Given the description of an element on the screen output the (x, y) to click on. 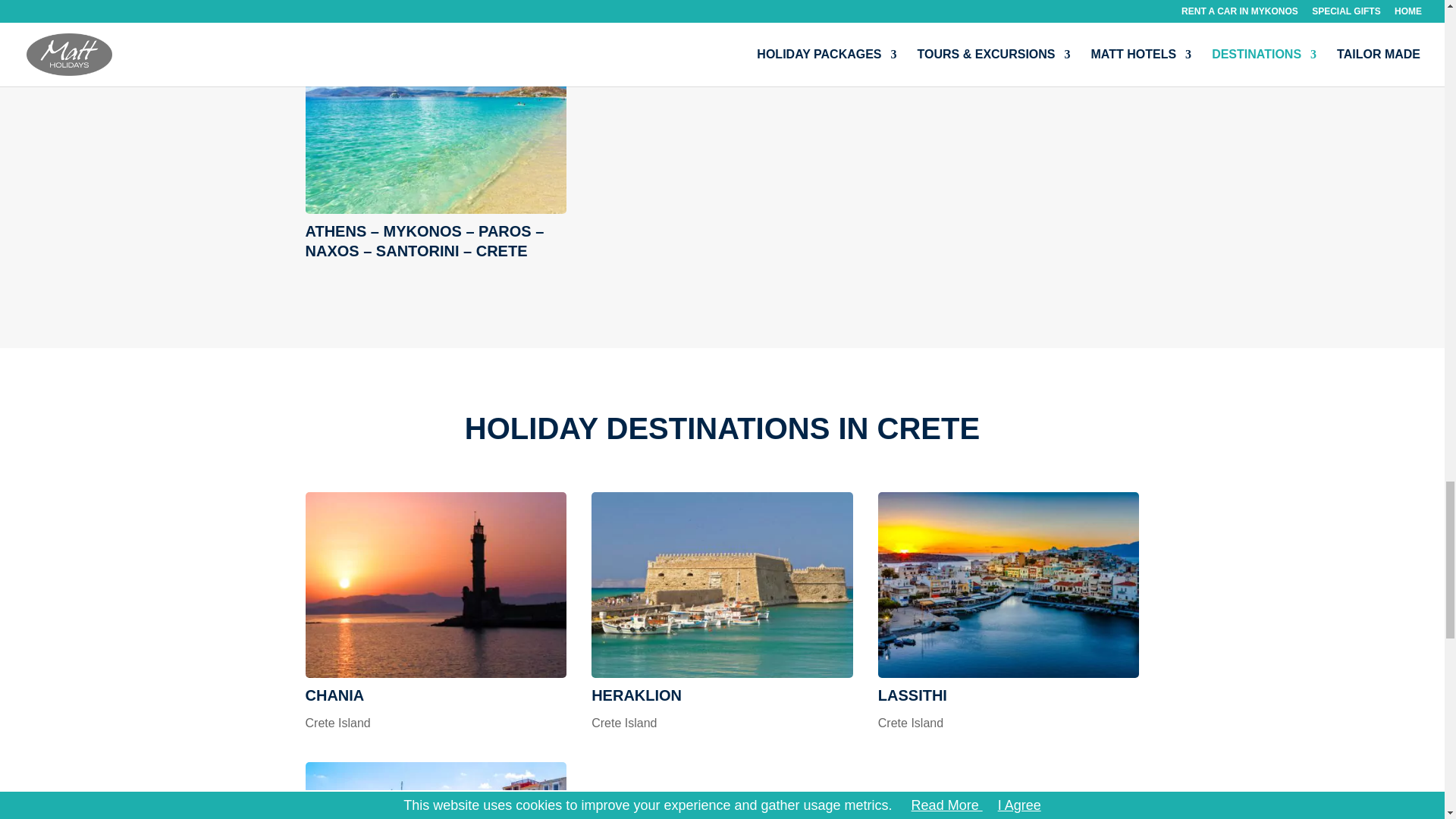
Crete Island (910, 722)
Chania (334, 695)
Lassithi (912, 695)
Crete Island (336, 722)
Rethymno (435, 790)
Chania (435, 585)
Crete Island (623, 722)
Heraklion (722, 585)
Heraklion (636, 695)
Lassithi (1008, 585)
